Given the description of an element on the screen output the (x, y) to click on. 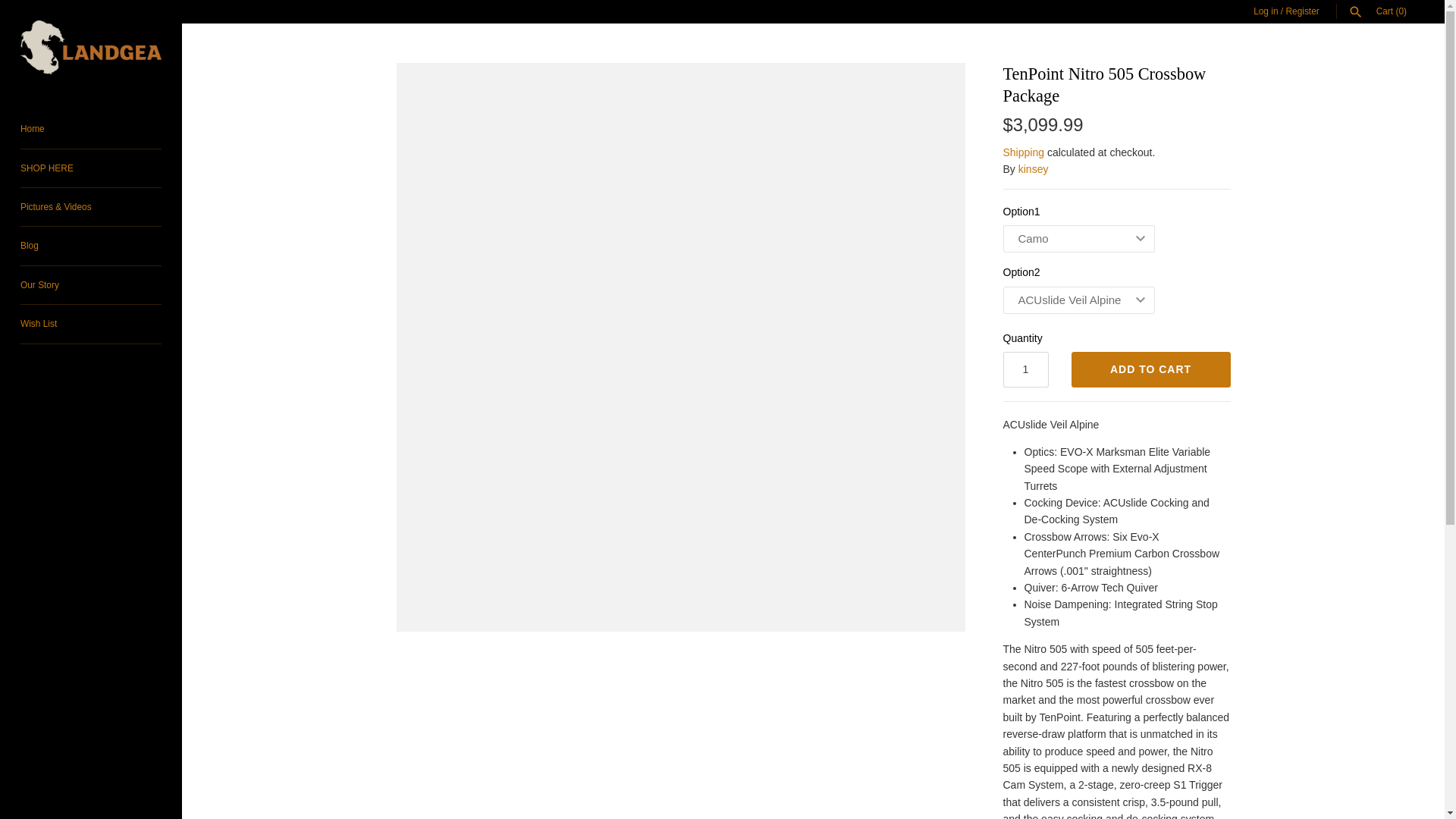
Register (1302, 10)
Log in (1265, 10)
SHOP HERE (90, 168)
Home (90, 128)
Landgea.com (91, 47)
1 (1025, 369)
